Given the description of an element on the screen output the (x, y) to click on. 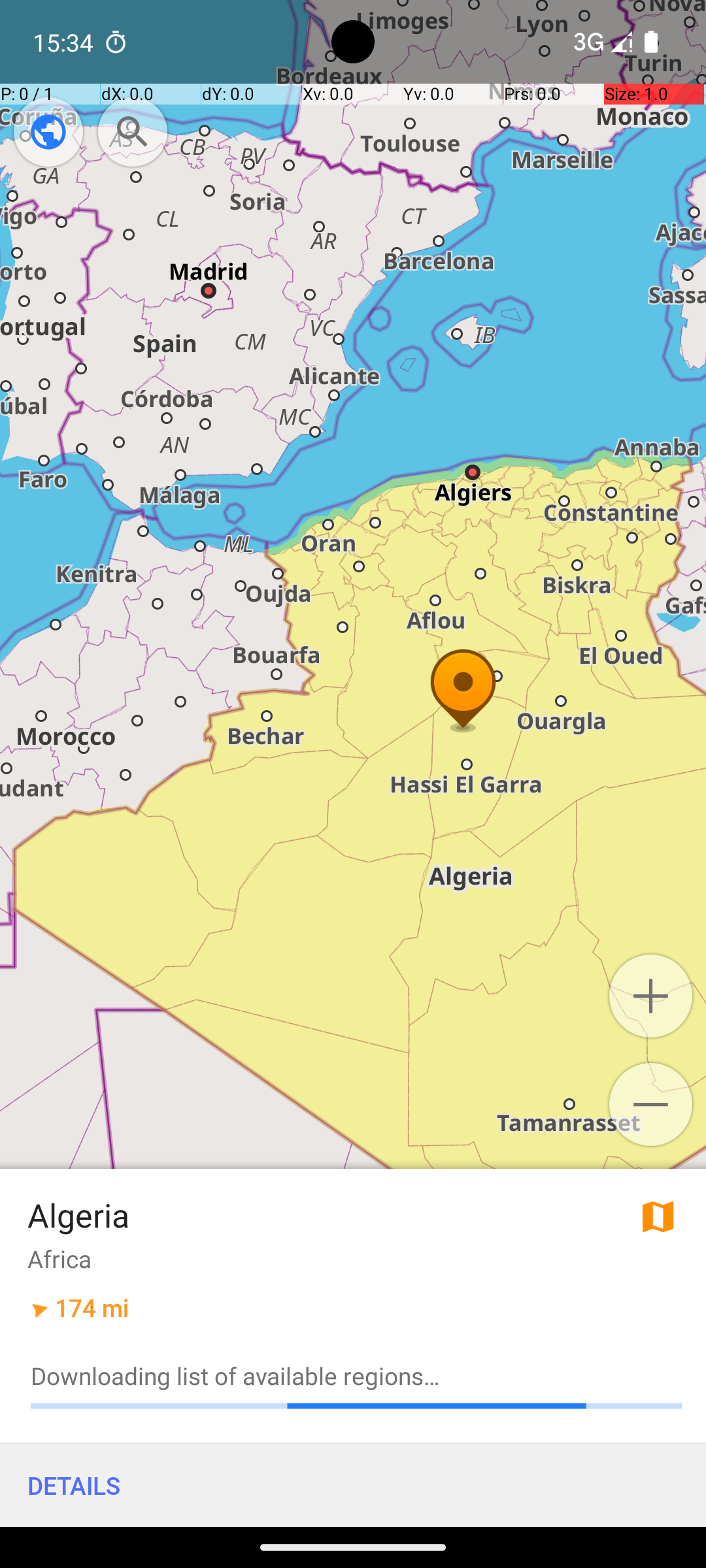
Algeria Element type: android.widget.TextView (78, 1214)
Africa Element type: android.widget.TextView (59, 1258)
174 mi Element type: android.widget.TextView (91, 1307)
DETAILS Element type: android.widget.TextView (353, 1485)
Downloading list of available regions… Element type: android.widget.TextView (355, 1375)
